Given the description of an element on the screen output the (x, y) to click on. 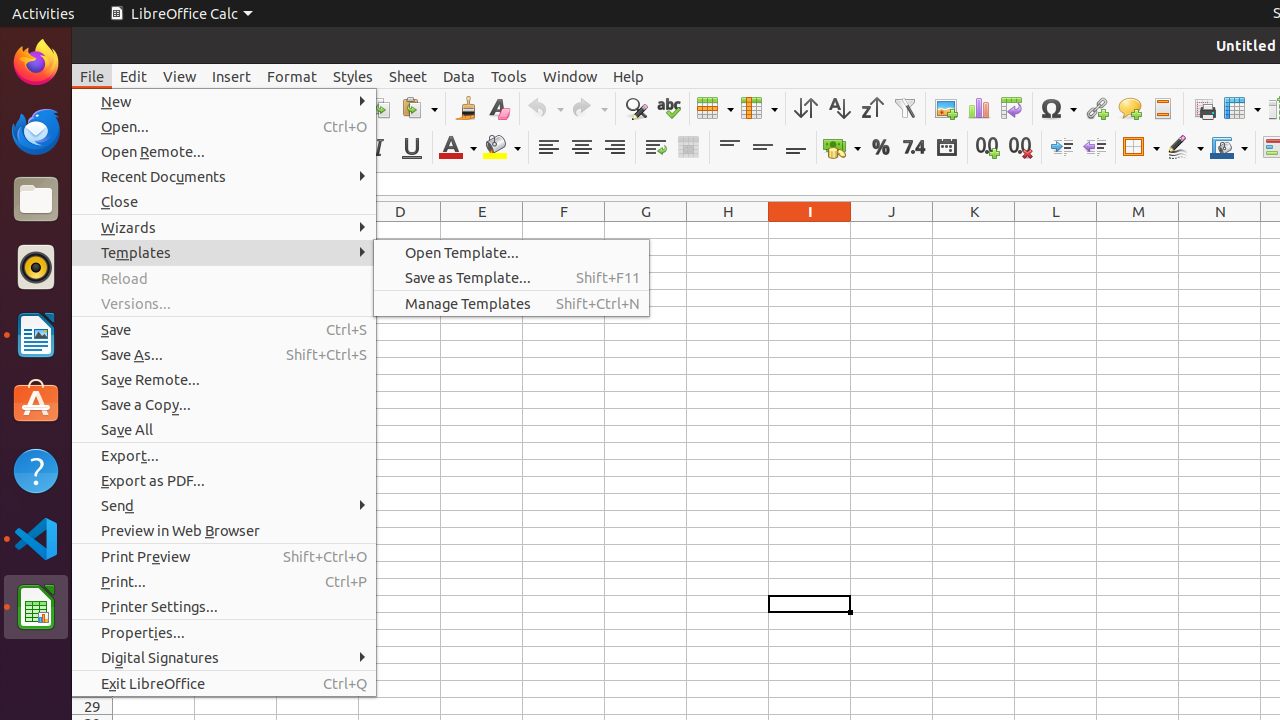
Border Style Element type: push-button (1185, 147)
Export... Element type: menu-item (224, 455)
Paste Element type: push-button (419, 108)
N1 Element type: table-cell (1220, 230)
Undo Element type: push-button (545, 108)
